Given the description of an element on the screen output the (x, y) to click on. 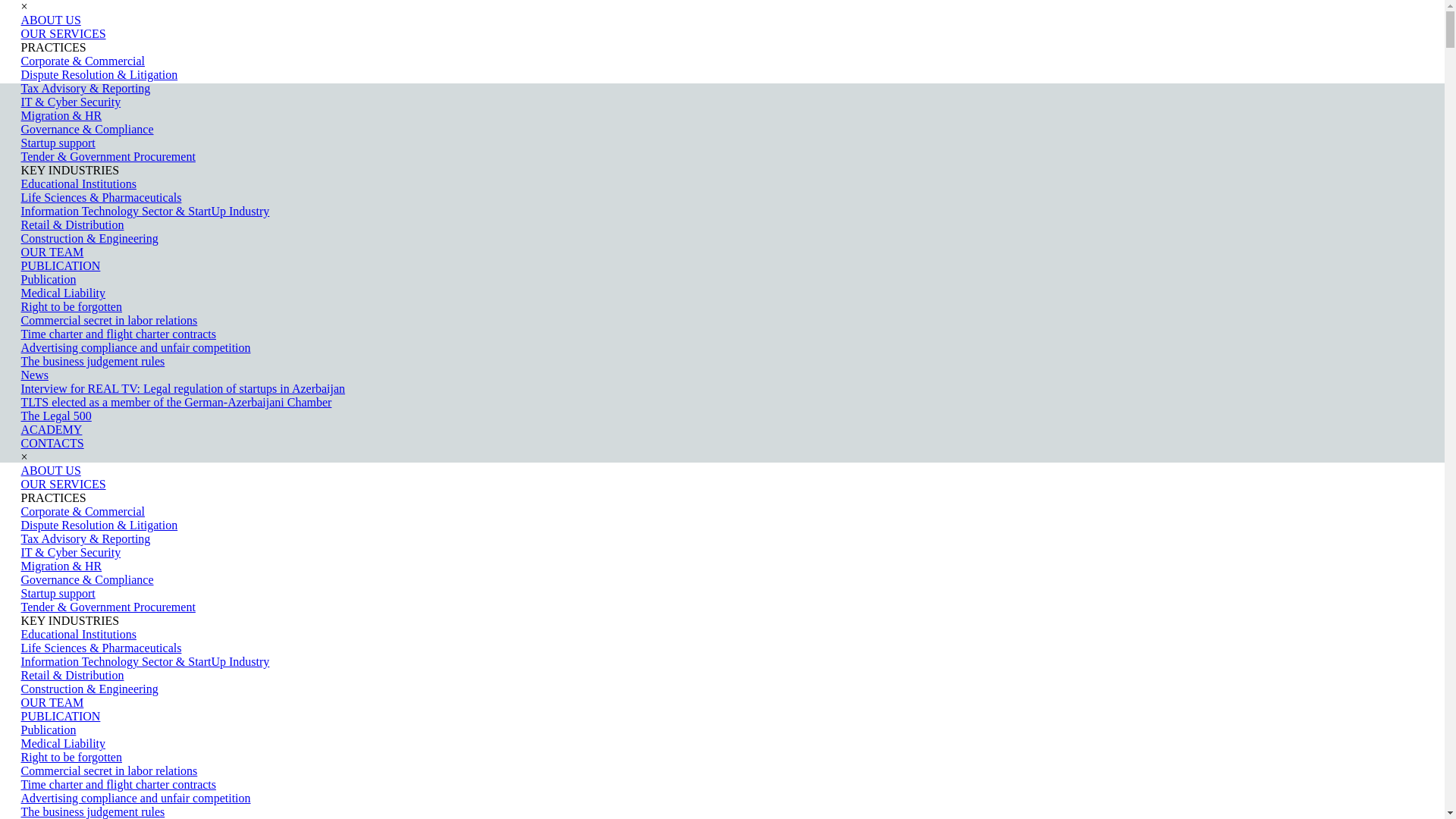
CONTACTS Element type: text (52, 442)
OUR SERVICES Element type: text (63, 483)
The business judgement rules Element type: text (93, 811)
Medical Liability Element type: text (63, 292)
OUR SERVICES Element type: text (63, 33)
Dispute Resolution & Litigation Element type: text (99, 524)
Startup support Element type: text (58, 142)
Advertising compliance and unfair competition Element type: text (136, 797)
TLTS elected as a member of the German-Azerbaijani Chamber Element type: text (176, 401)
Commercial secret in labor relations Element type: text (109, 319)
Educational Institutions Element type: text (78, 183)
Dispute Resolution & Litigation Element type: text (99, 74)
Construction & Engineering Element type: text (89, 688)
Life Sciences & Pharmaceuticals Element type: text (101, 197)
Corporate & Commercial Element type: text (83, 511)
Time charter and flight charter contracts Element type: text (118, 784)
Migration & HR Element type: text (61, 115)
OUR TEAM Element type: text (52, 702)
ABOUT US Element type: text (51, 19)
IT & Cyber Security Element type: text (71, 552)
Advertising compliance and unfair competition Element type: text (136, 347)
Right to be forgotten Element type: text (71, 306)
Migration & HR Element type: text (61, 565)
Tender & Government Procurement Element type: text (108, 156)
PUBLICATION Element type: text (60, 715)
Commercial secret in labor relations Element type: text (109, 770)
Information Technology Sector & StartUp Industry Element type: text (145, 661)
ACADEMY Element type: text (51, 429)
Startup support Element type: text (58, 592)
OUR TEAM Element type: text (52, 251)
News Element type: text (34, 374)
Governance & Compliance Element type: text (87, 128)
Life Sciences & Pharmaceuticals Element type: text (101, 647)
Information Technology Sector & StartUp Industry Element type: text (145, 210)
Educational Institutions Element type: text (78, 633)
Tax Advisory & Reporting Element type: text (85, 87)
Medical Liability Element type: text (63, 743)
The Legal 500 Element type: text (56, 415)
IT & Cyber Security Element type: text (71, 101)
Publication Element type: text (48, 279)
The business judgement rules Element type: text (93, 360)
Retail & Distribution Element type: text (72, 674)
Publication Element type: text (48, 729)
Retail & Distribution Element type: text (72, 224)
Construction & Engineering Element type: text (89, 238)
Corporate & Commercial Element type: text (83, 60)
Tax Advisory & Reporting Element type: text (85, 538)
Governance & Compliance Element type: text (87, 579)
Tender & Government Procurement Element type: text (108, 606)
Time charter and flight charter contracts Element type: text (118, 333)
ABOUT US Element type: text (51, 470)
Right to be forgotten Element type: text (71, 756)
PUBLICATION Element type: text (60, 265)
